Given the description of an element on the screen output the (x, y) to click on. 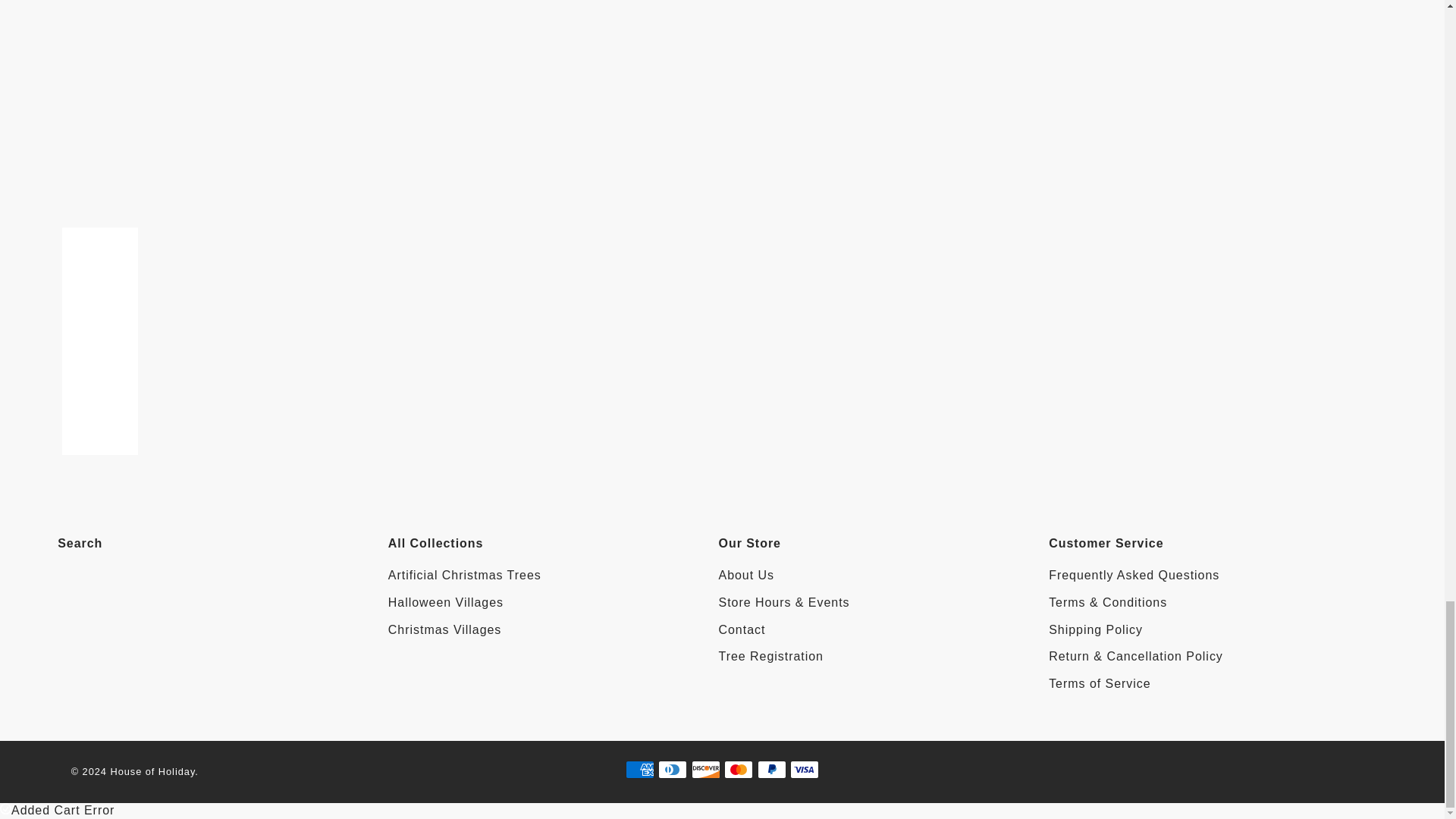
Discover (705, 769)
Mastercard (737, 769)
Diners Club (672, 769)
American Express (639, 769)
